Given the description of an element on the screen output the (x, y) to click on. 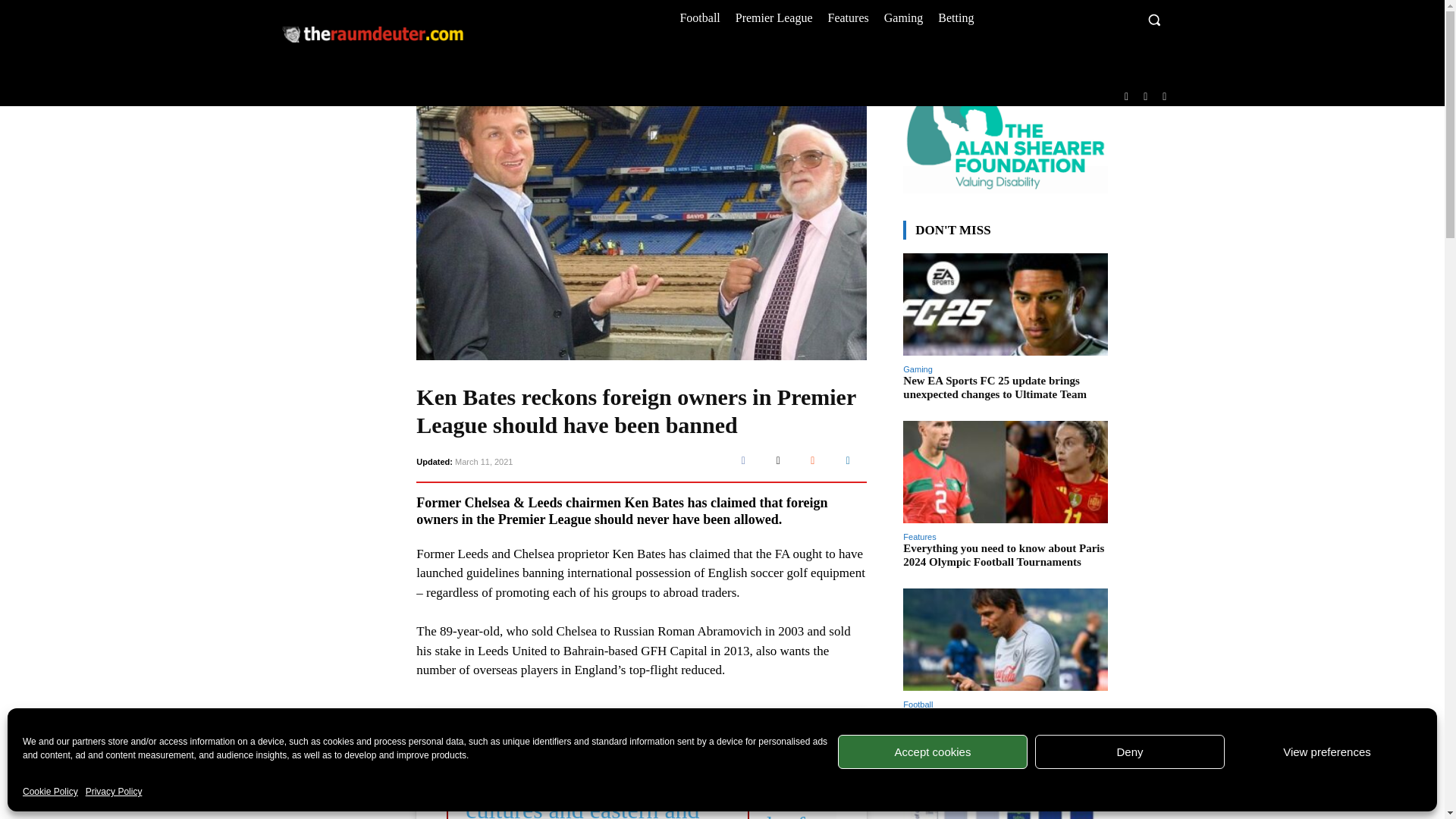
Accept cookies (932, 751)
Gaming (903, 17)
Privacy Policy (113, 791)
Cookie Policy (50, 791)
Deny (1129, 751)
Football (698, 17)
Premier League (773, 17)
Features (848, 17)
View preferences (1326, 751)
